Given the description of an element on the screen output the (x, y) to click on. 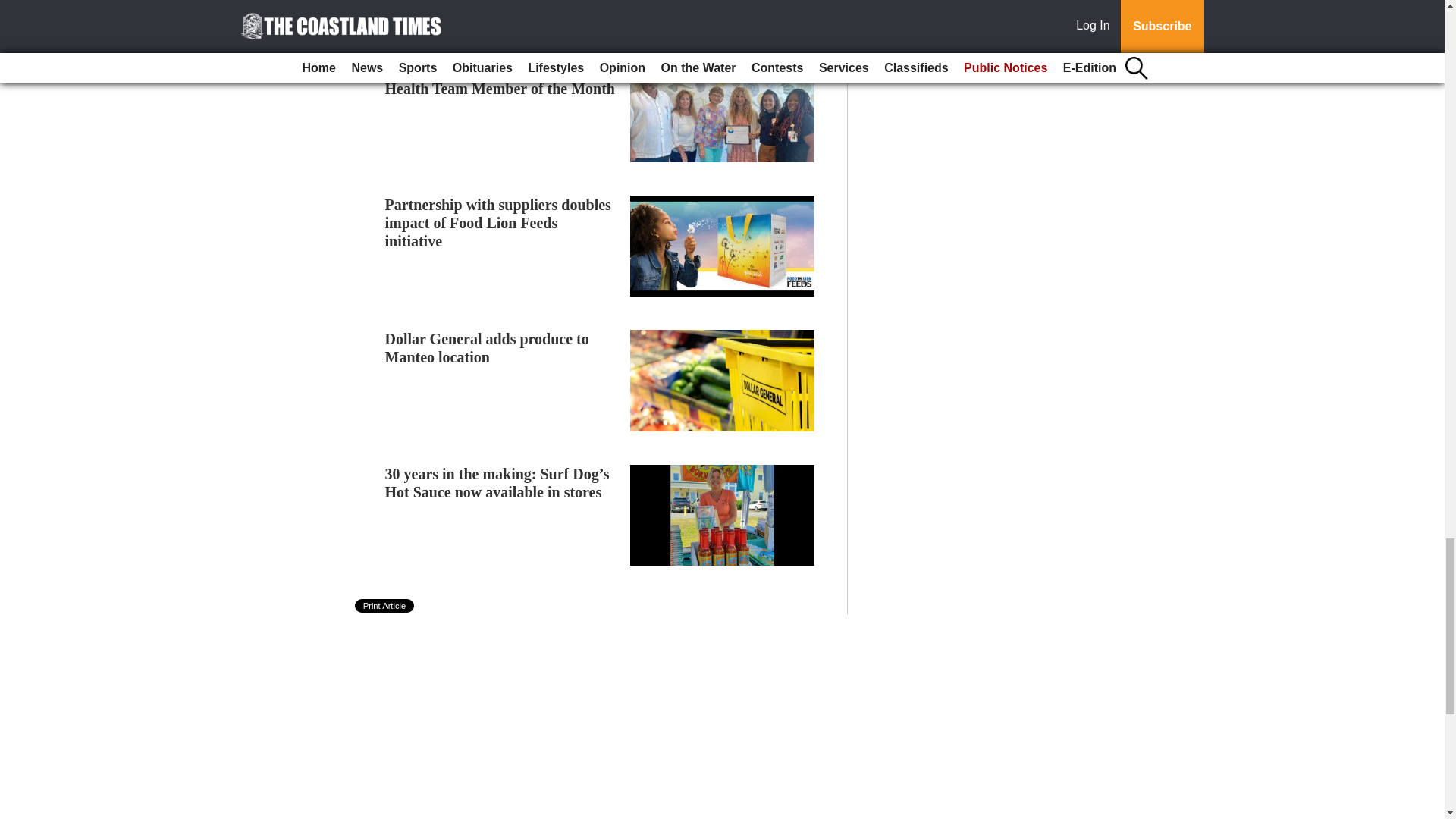
Dollar General adds produce to Manteo location (487, 347)
Dollar General adds produce to Manteo location (487, 347)
